Given the description of an element on the screen output the (x, y) to click on. 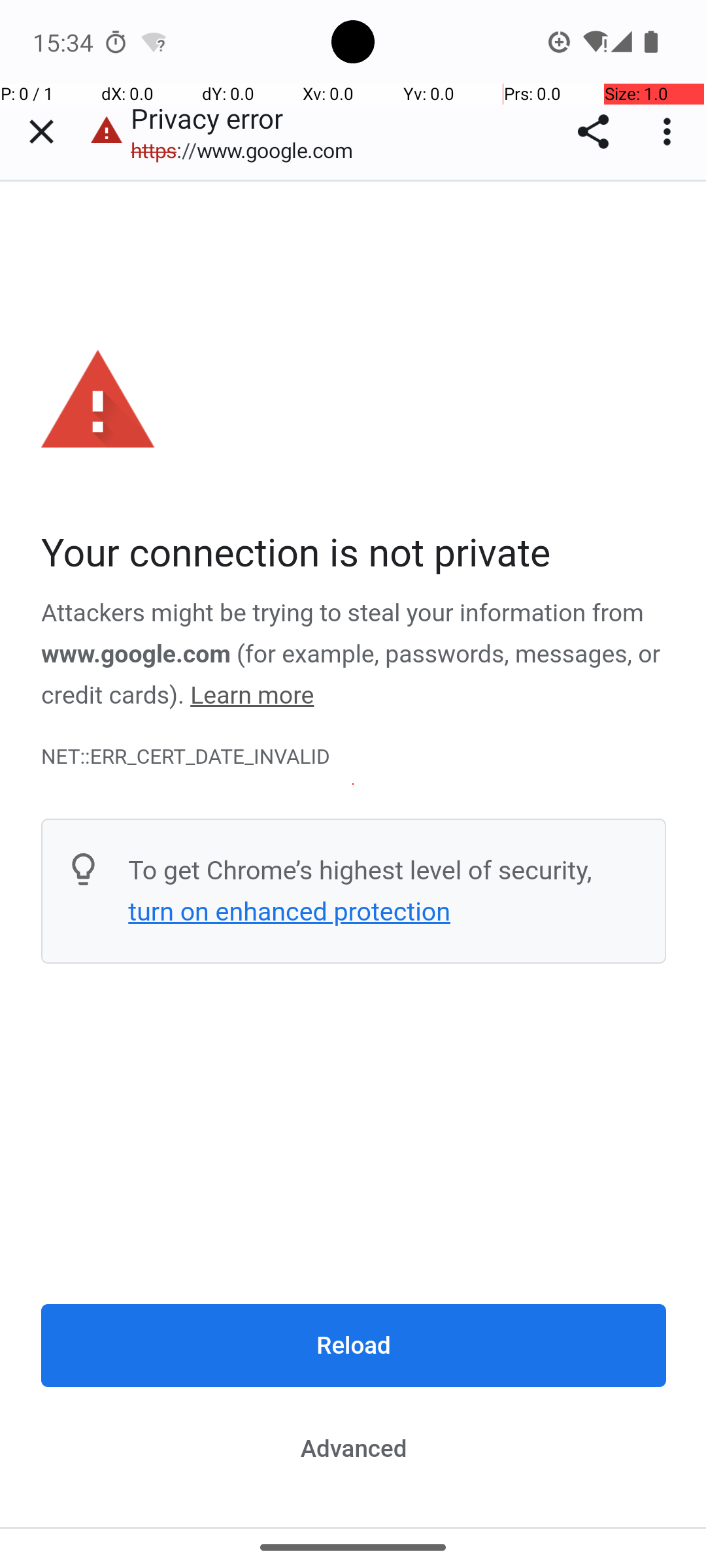
https://www.google.com Element type: android.widget.TextView (248, 149)
